Given the description of an element on the screen output the (x, y) to click on. 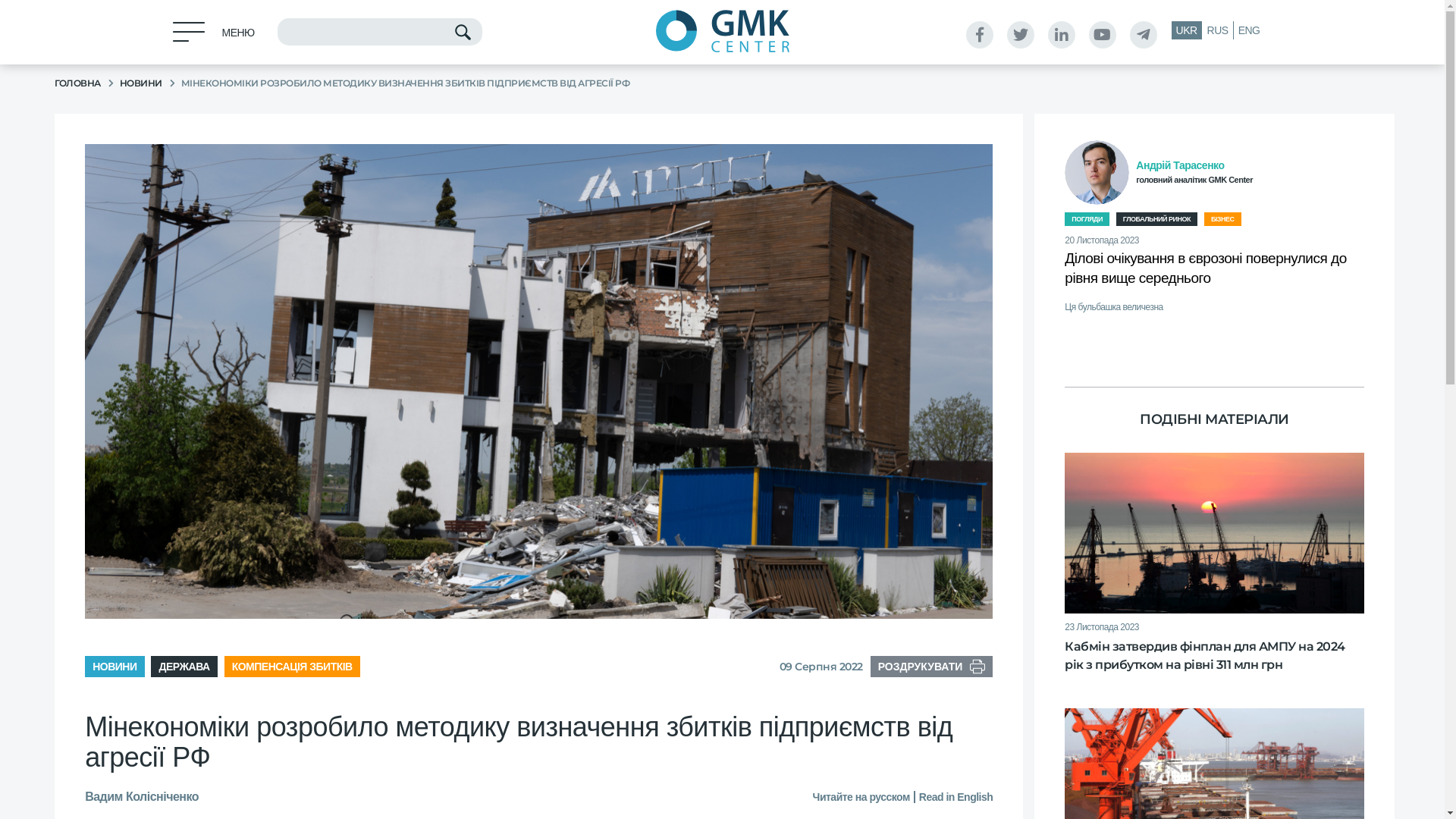
UKR Element type: text (1186, 30)
ENG Element type: text (1248, 30)
RUS Element type: text (1217, 30)
Read in English Element type: text (954, 796)
Search Element type: text (463, 32)
